Given the description of an element on the screen output the (x, y) to click on. 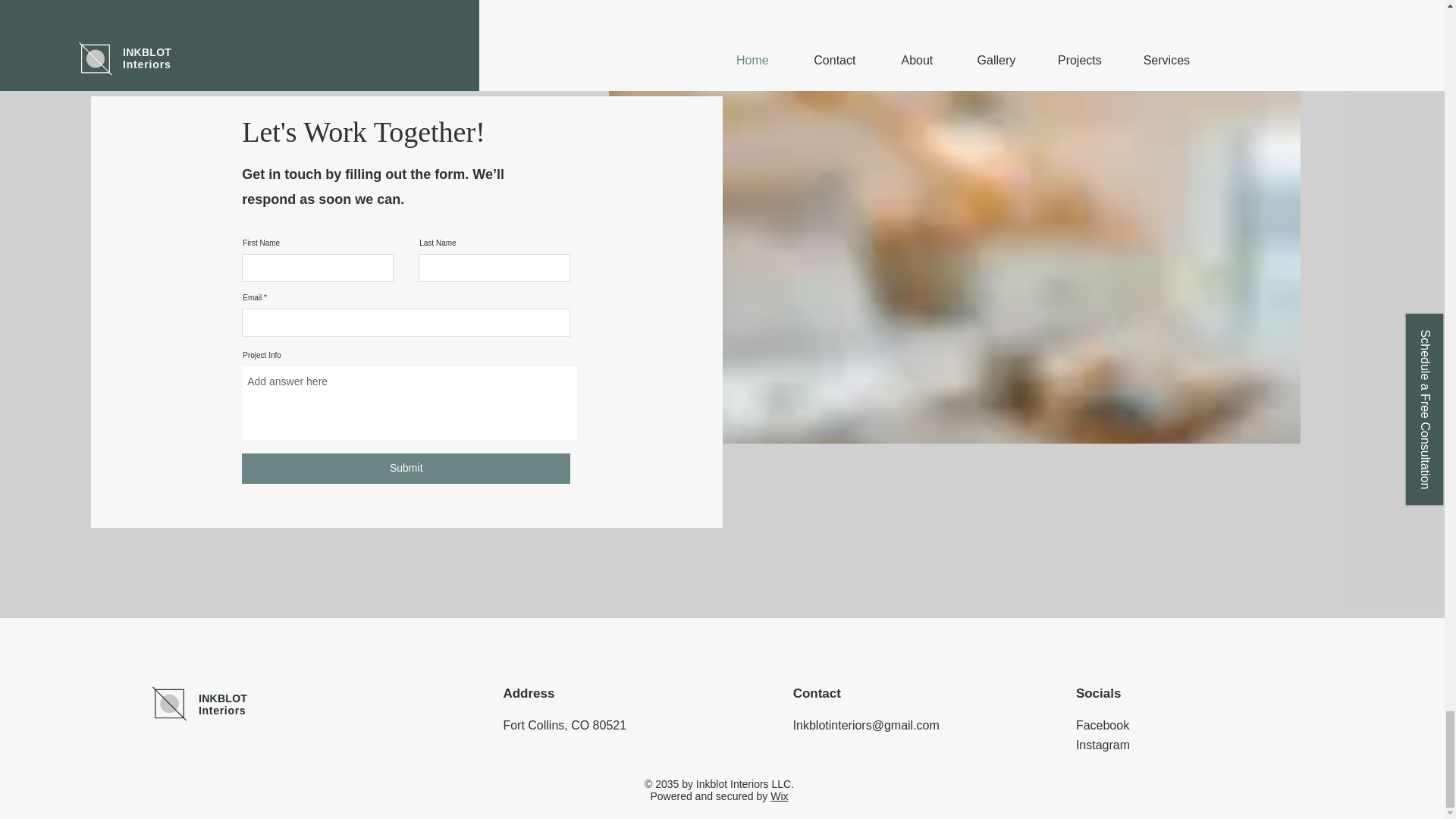
INKBLOT (222, 698)
Facebook (1102, 725)
Submit (405, 468)
Instagram (1102, 744)
Interiors (222, 710)
Wix (778, 796)
